Given the description of an element on the screen output the (x, y) to click on. 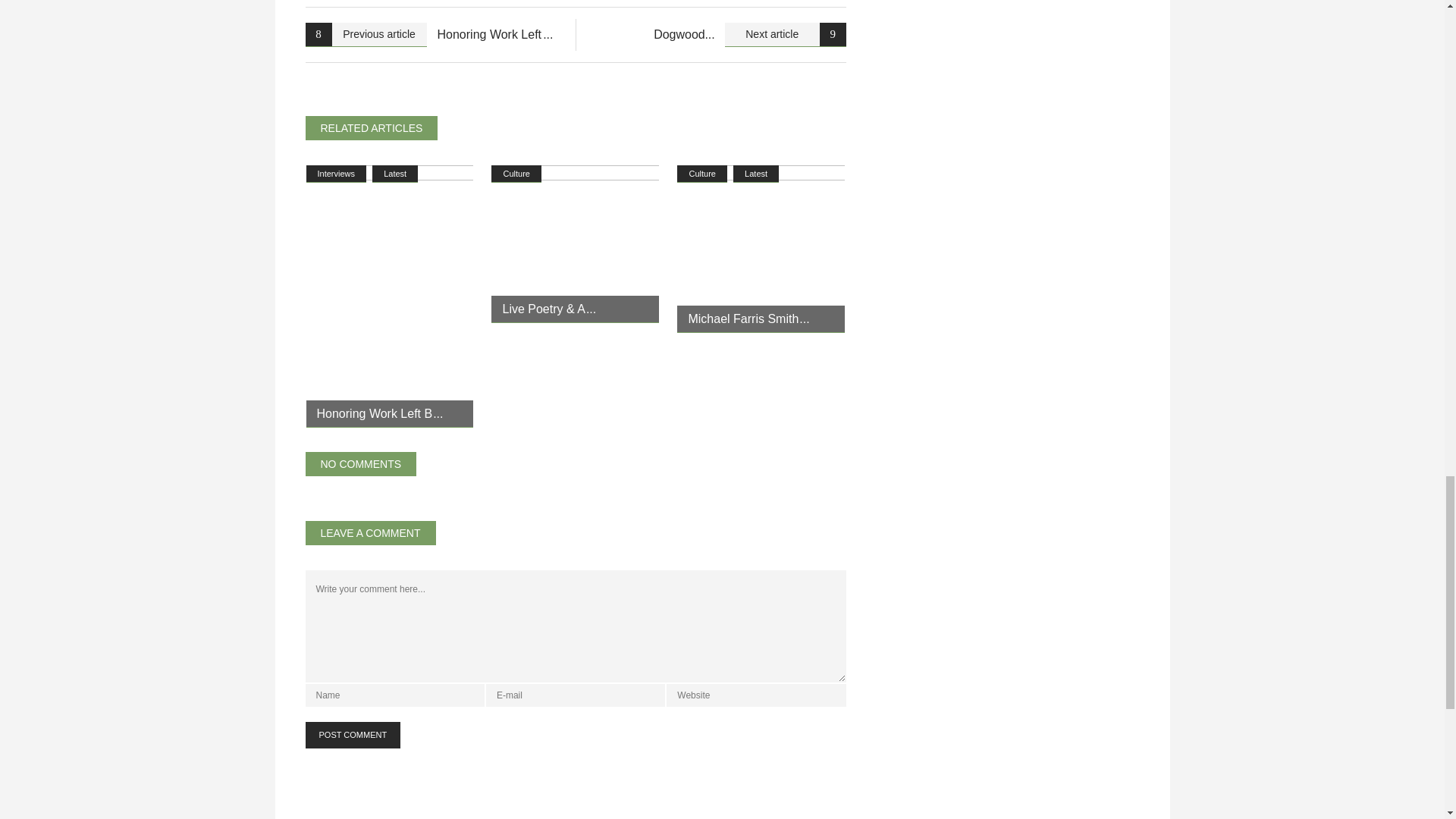
Honoring Work Left Behind With Jessica Hooten Wilson (380, 413)
POST COMMENT (352, 734)
Honoring Work Left Behind With Jessica Hooten Wilson (389, 296)
